Given the description of an element on the screen output the (x, y) to click on. 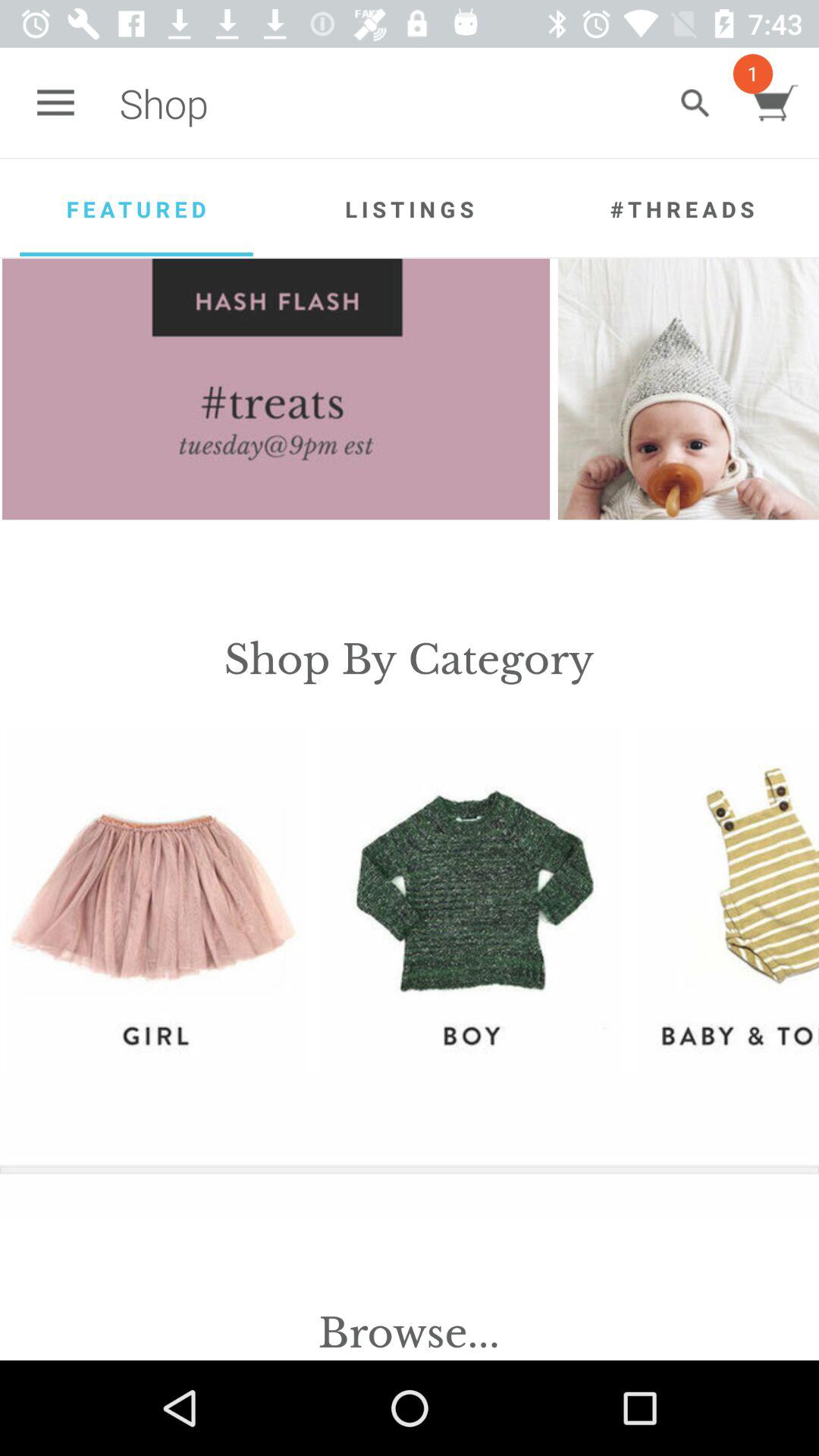
open hash flash (275, 388)
